Given the description of an element on the screen output the (x, y) to click on. 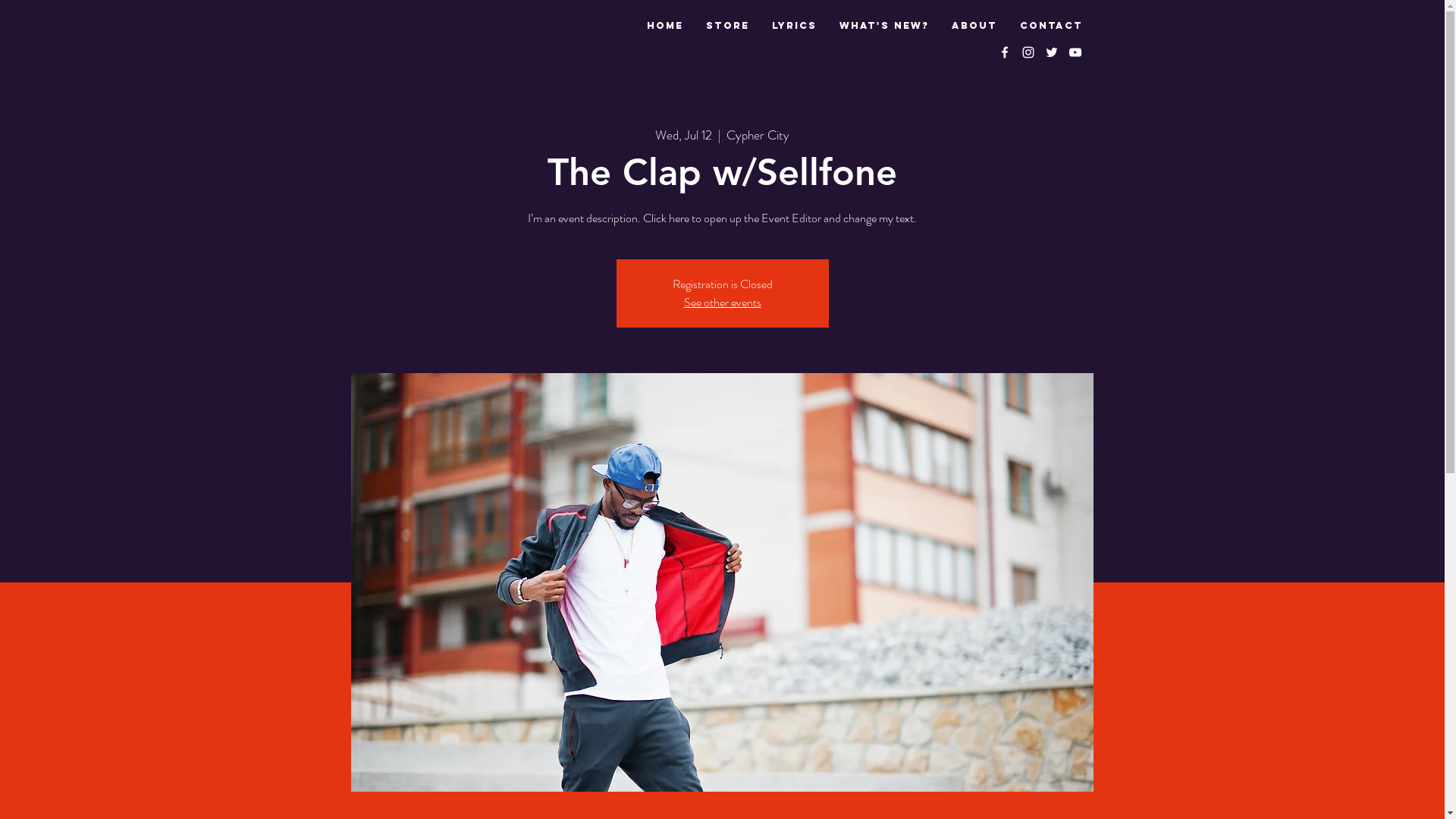
See other events Element type: text (722, 301)
Lyrics Element type: text (793, 25)
HOME Element type: text (664, 25)
CONTACT Element type: text (1051, 25)
What's New? Element type: text (884, 25)
Store Element type: text (727, 25)
About Element type: text (974, 25)
